Given the description of an element on the screen output the (x, y) to click on. 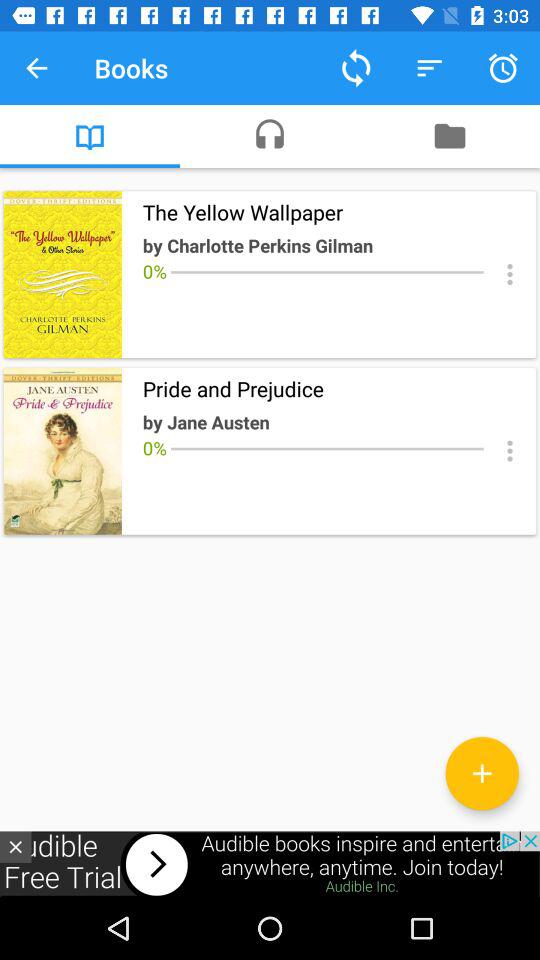
open menu (509, 274)
